Given the description of an element on the screen output the (x, y) to click on. 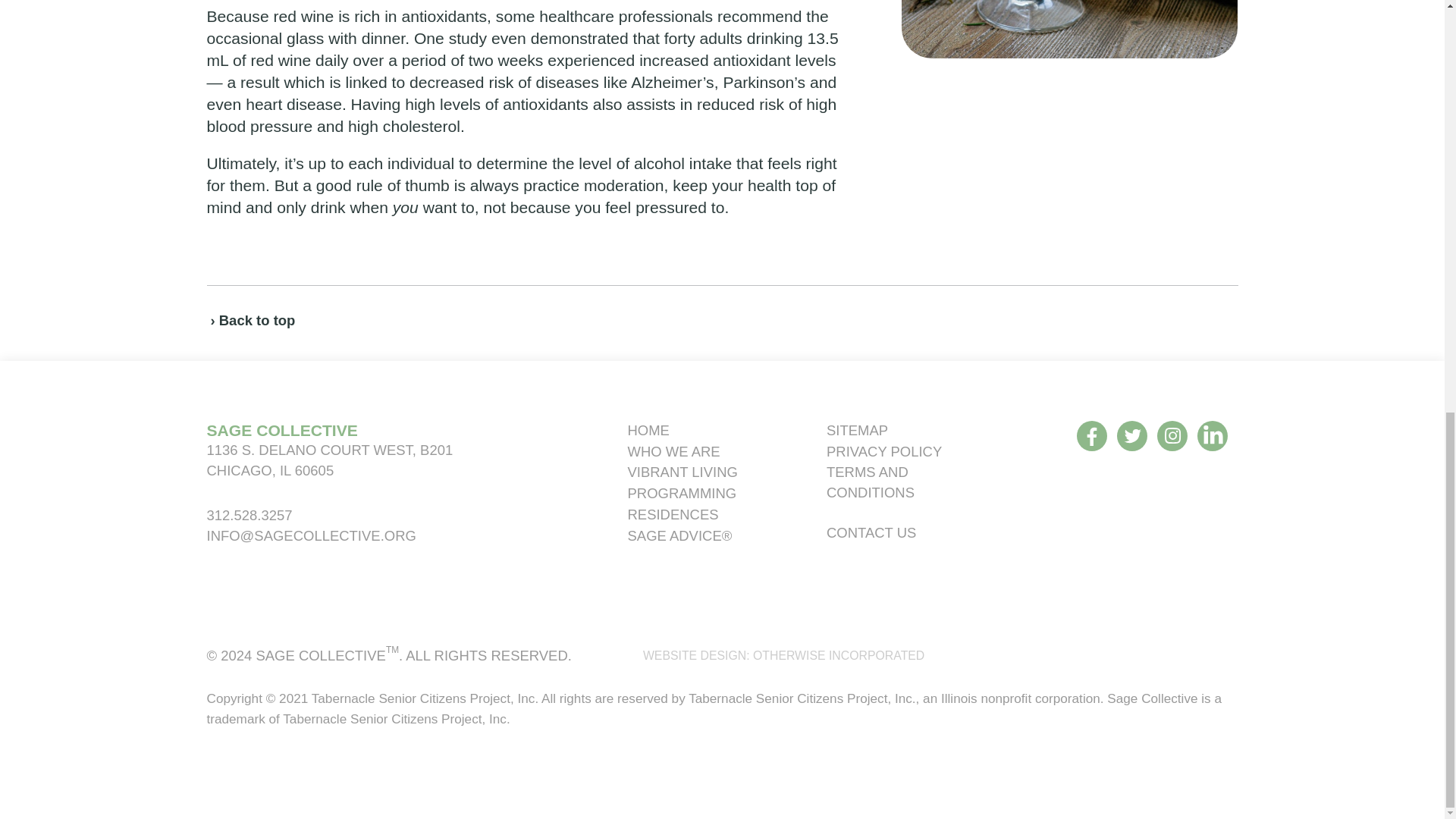
VIBRANT LIVING (682, 471)
312.528.3257 (249, 514)
PRIVACY POLICY (884, 451)
SITEMAP (857, 430)
CONTACT US (871, 532)
HOME (648, 430)
One study (449, 37)
TERMS AND CONDITIONS (870, 481)
WHO WE ARE (673, 451)
WEBSITE DESIGN: OTHERWISE INCORPORATED (783, 655)
